Given the description of an element on the screen output the (x, y) to click on. 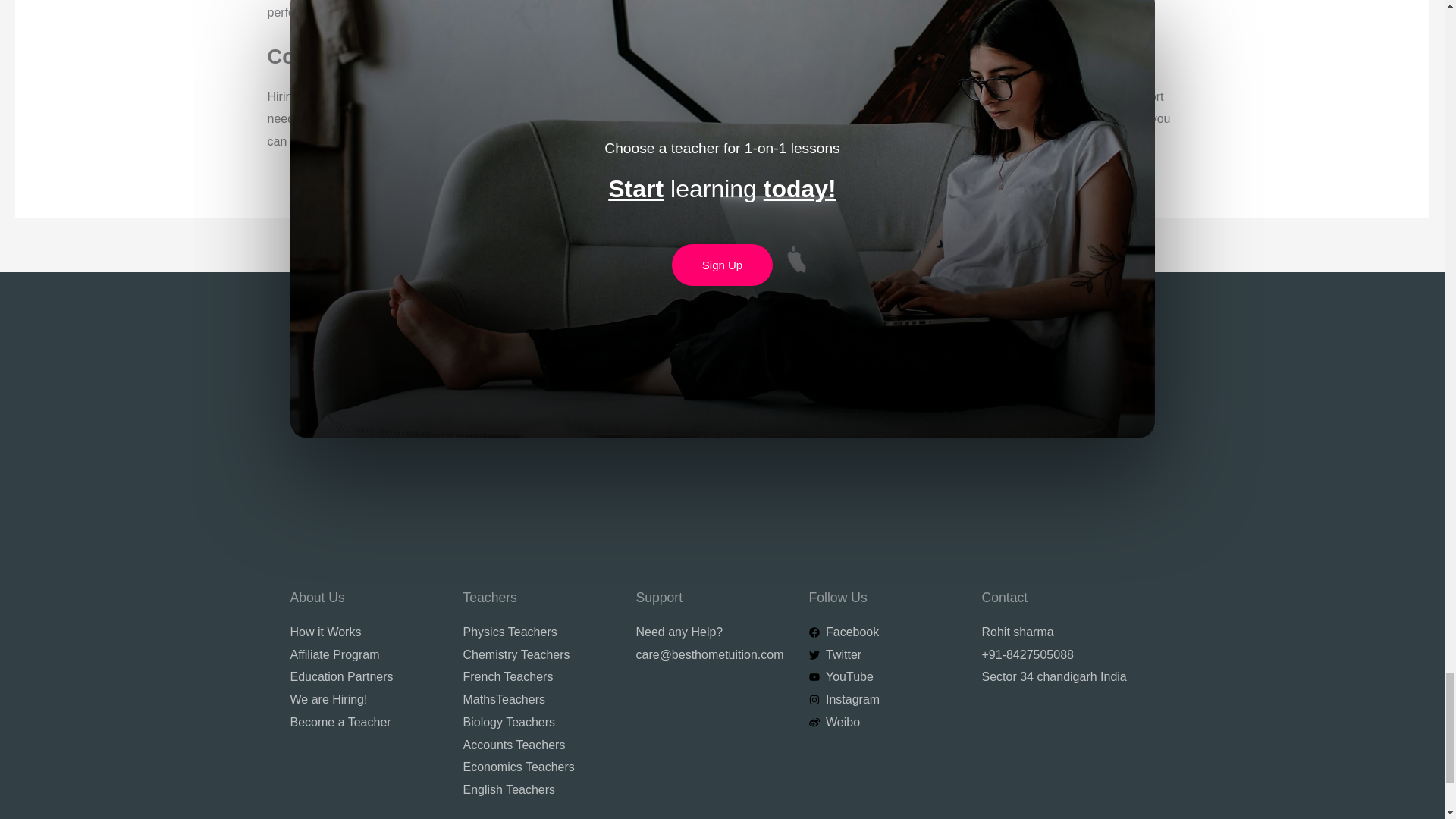
Education Partners (366, 676)
English Teachers (539, 789)
Weibo (885, 722)
Chemistry Teachers (539, 654)
We are Hiring! (366, 699)
Facebook (885, 631)
YouTube (885, 676)
Economics Teachers (539, 766)
Instagram (885, 699)
Sign Up (722, 264)
Accounts Teachers (539, 744)
Physics Teachers (539, 631)
How it Works (366, 631)
MathsTeachers (539, 699)
Affiliate Program (366, 654)
